Given the description of an element on the screen output the (x, y) to click on. 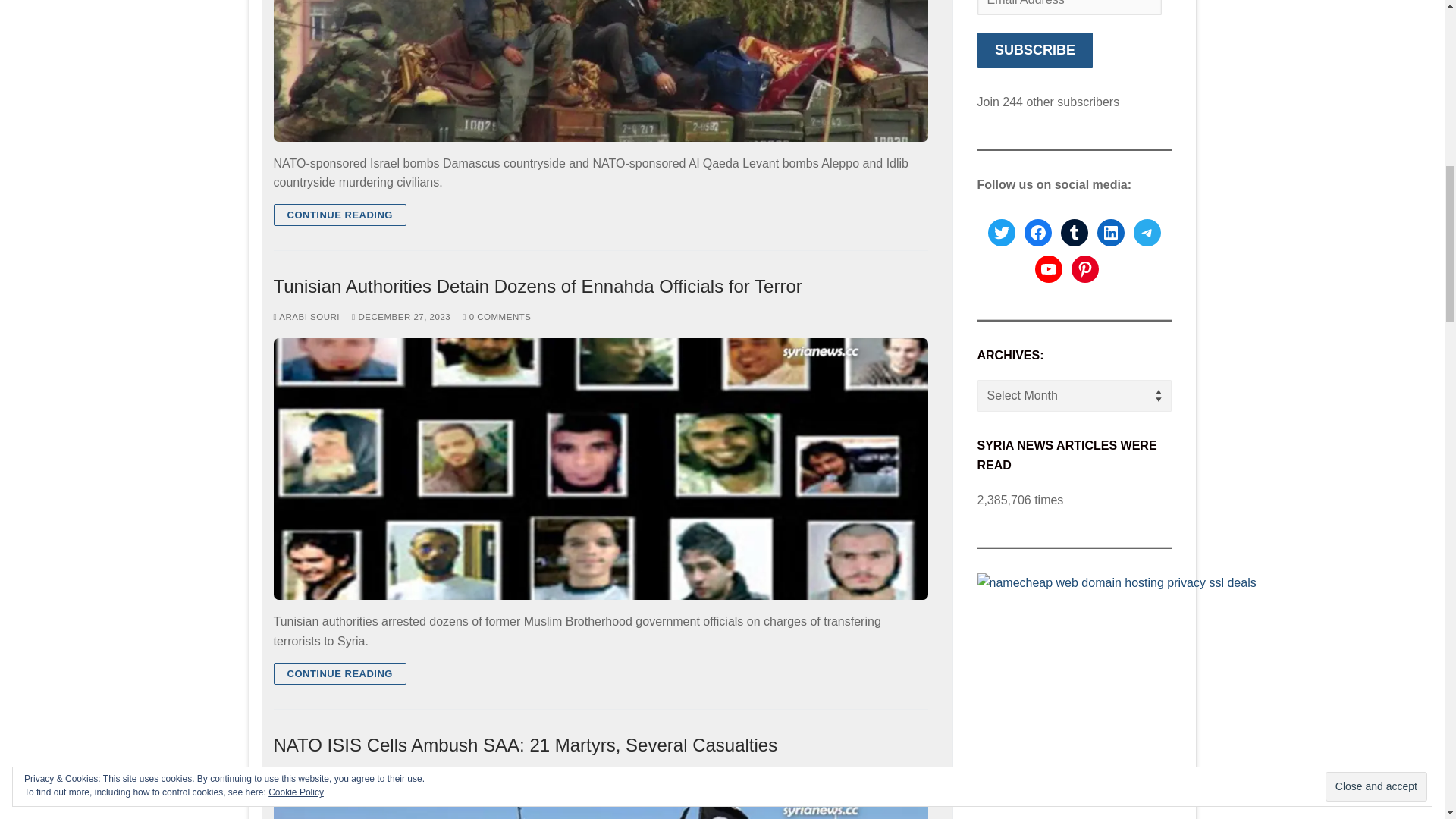
DECEMBER 27, 2023 (400, 316)
NATO ISIS Cells Ambush SAA: 21 Martyrs, Several Casualties (600, 744)
MIRI WOOD (302, 775)
Losing in Gaza, Israel Bombs Damascus, Al Qaeda Bombs Aleppo (600, 70)
NATO ISIS Cells Ambush SAA: 21 Martyrs, Several Casualties (600, 807)
NATO ISIS Cells Ambush SAA: 21 Martyrs, Several Casualties (600, 744)
0 COMMENTS (497, 316)
